Given the description of an element on the screen output the (x, y) to click on. 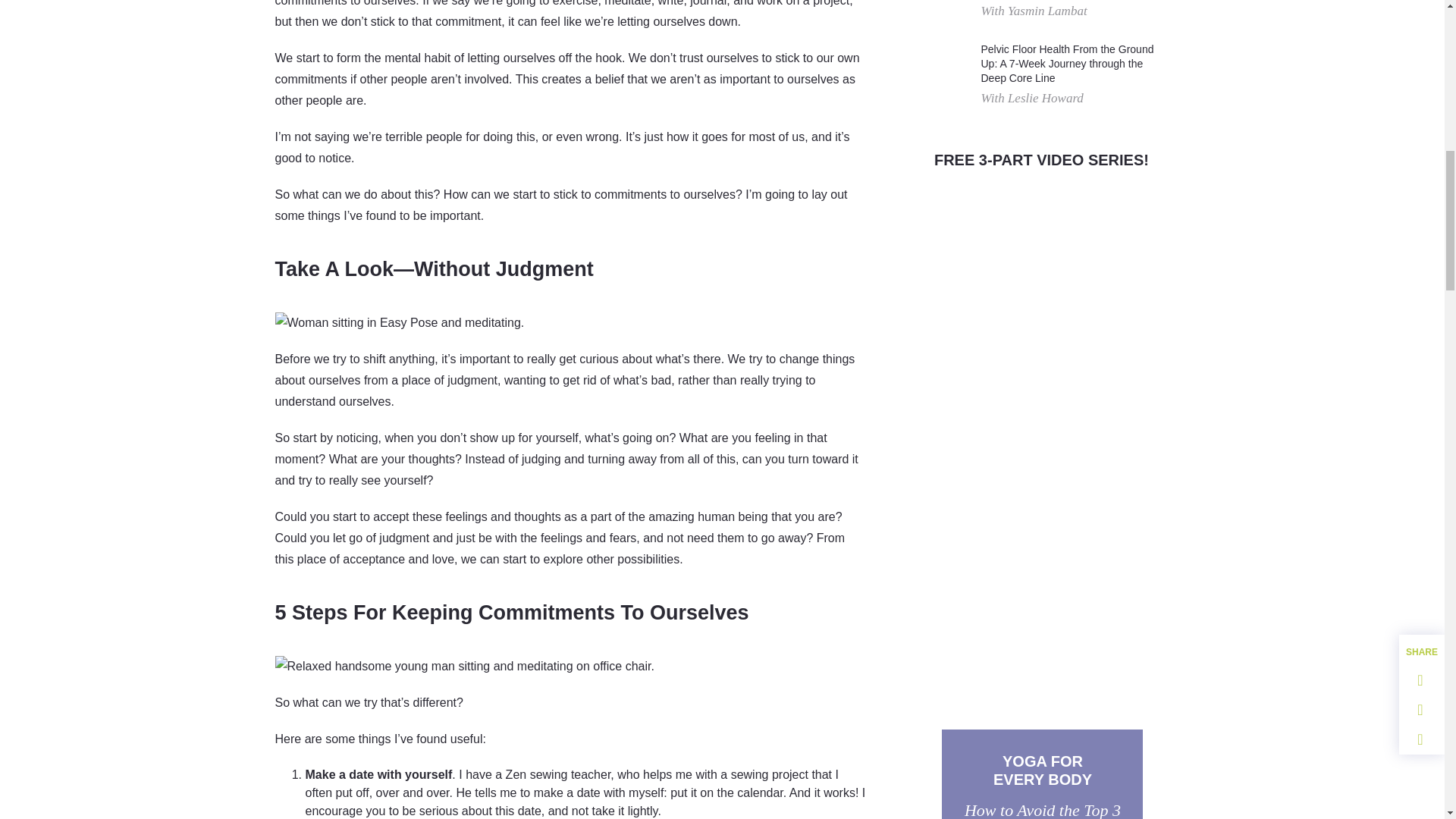
Meditation is a commitment to one's self, to well-being. (399, 322)
